Given the description of an element on the screen output the (x, y) to click on. 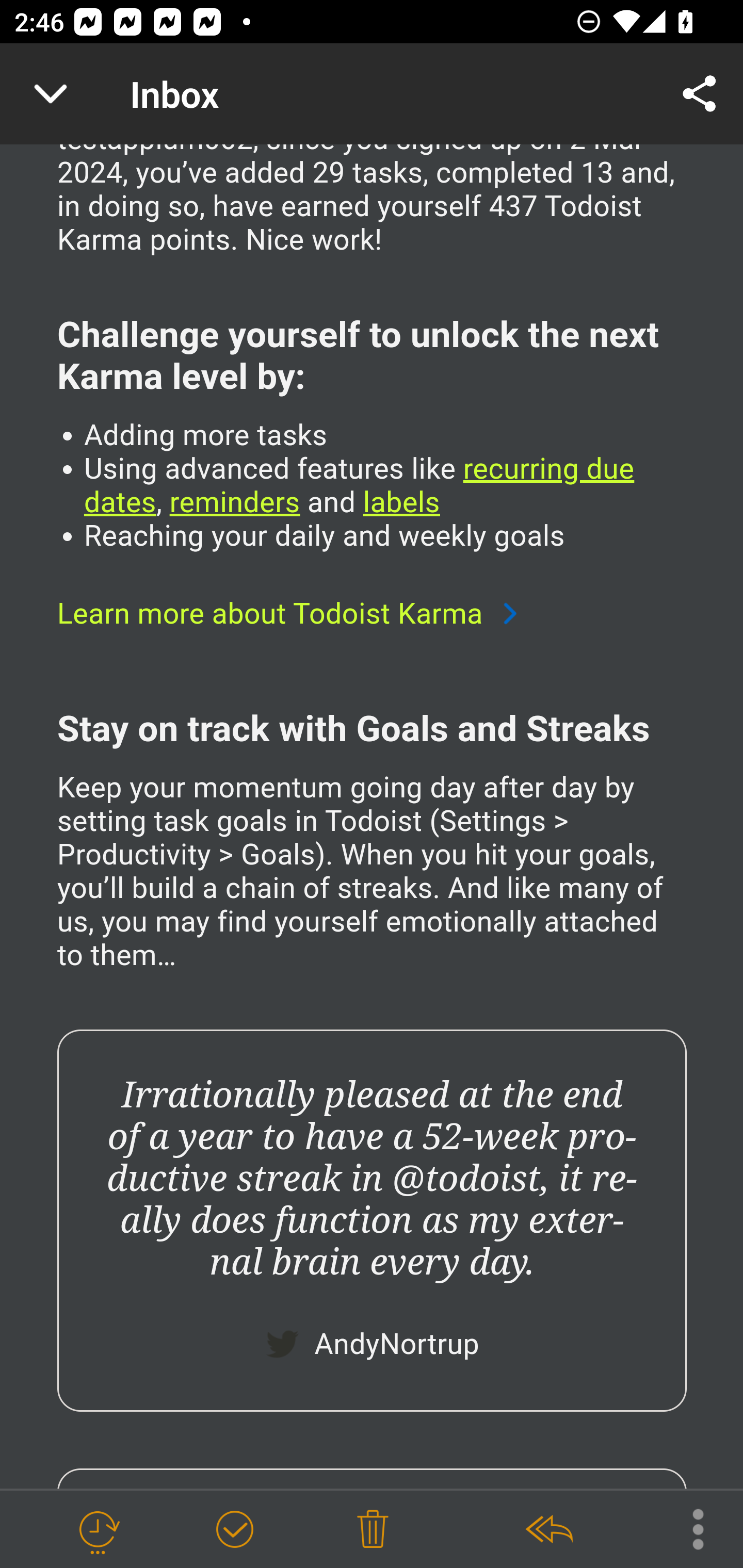
Navigate up (50, 93)
Share (699, 93)
recurring due dates (359, 487)
reminders (234, 504)
labels (400, 504)
More Options (687, 1528)
Snooze (97, 1529)
Mark as Done (234, 1529)
Delete (372, 1529)
Reply All (548, 1529)
